Given the description of an element on the screen output the (x, y) to click on. 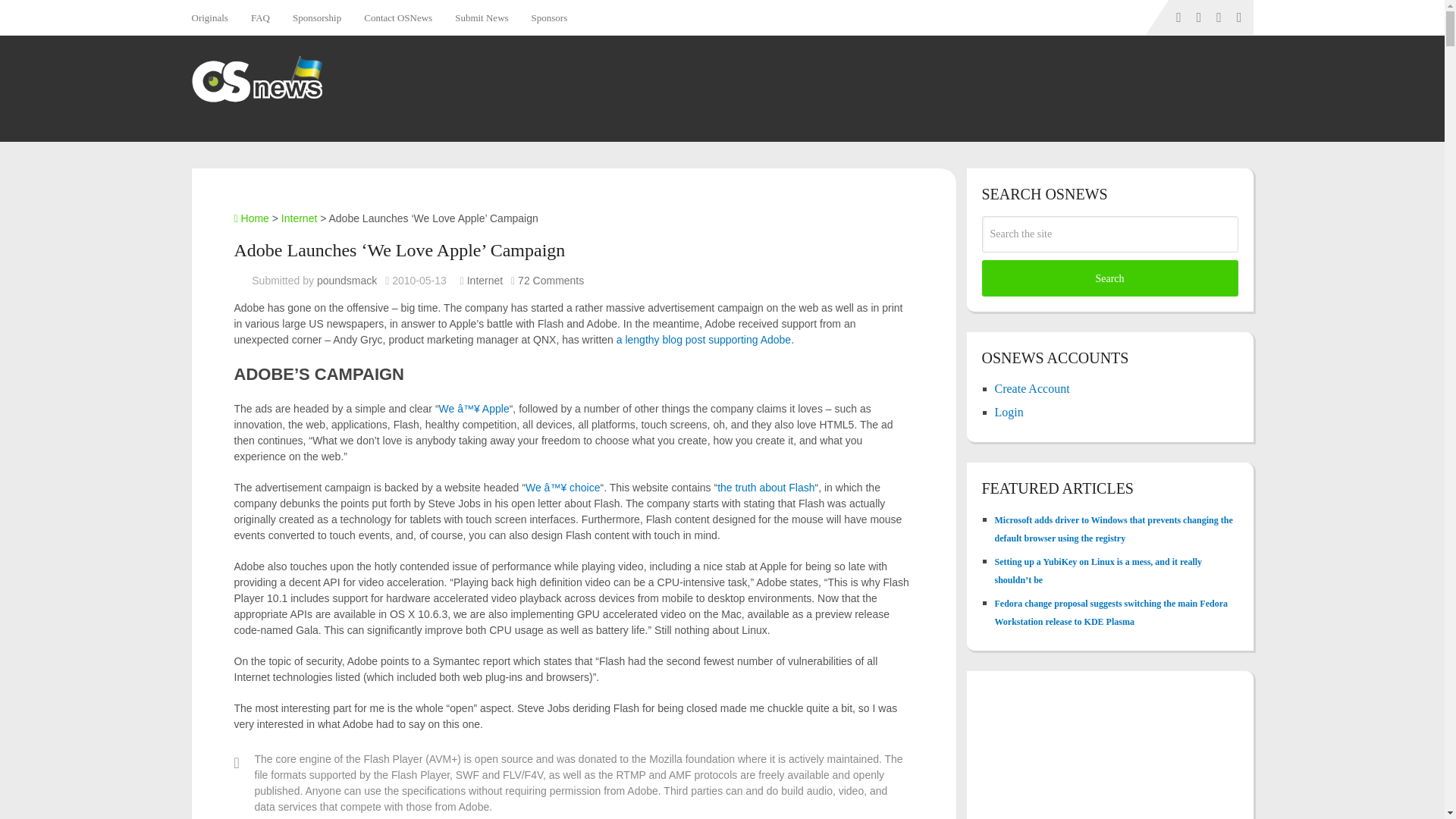
a lengthy blog post supporting Adobe (702, 339)
 Home (249, 218)
Search (1109, 278)
Contact OSNews (398, 17)
Internet (484, 280)
Internet (299, 218)
View all posts in Internet (484, 280)
Submit News (481, 17)
poundsmack (347, 280)
User 1878, Joined: 2005-07-13 (347, 280)
72 Comments (550, 280)
Sponsorship (316, 17)
Sponsors (549, 17)
the truth about Flash (765, 487)
FAQ (260, 17)
